Given the description of an element on the screen output the (x, y) to click on. 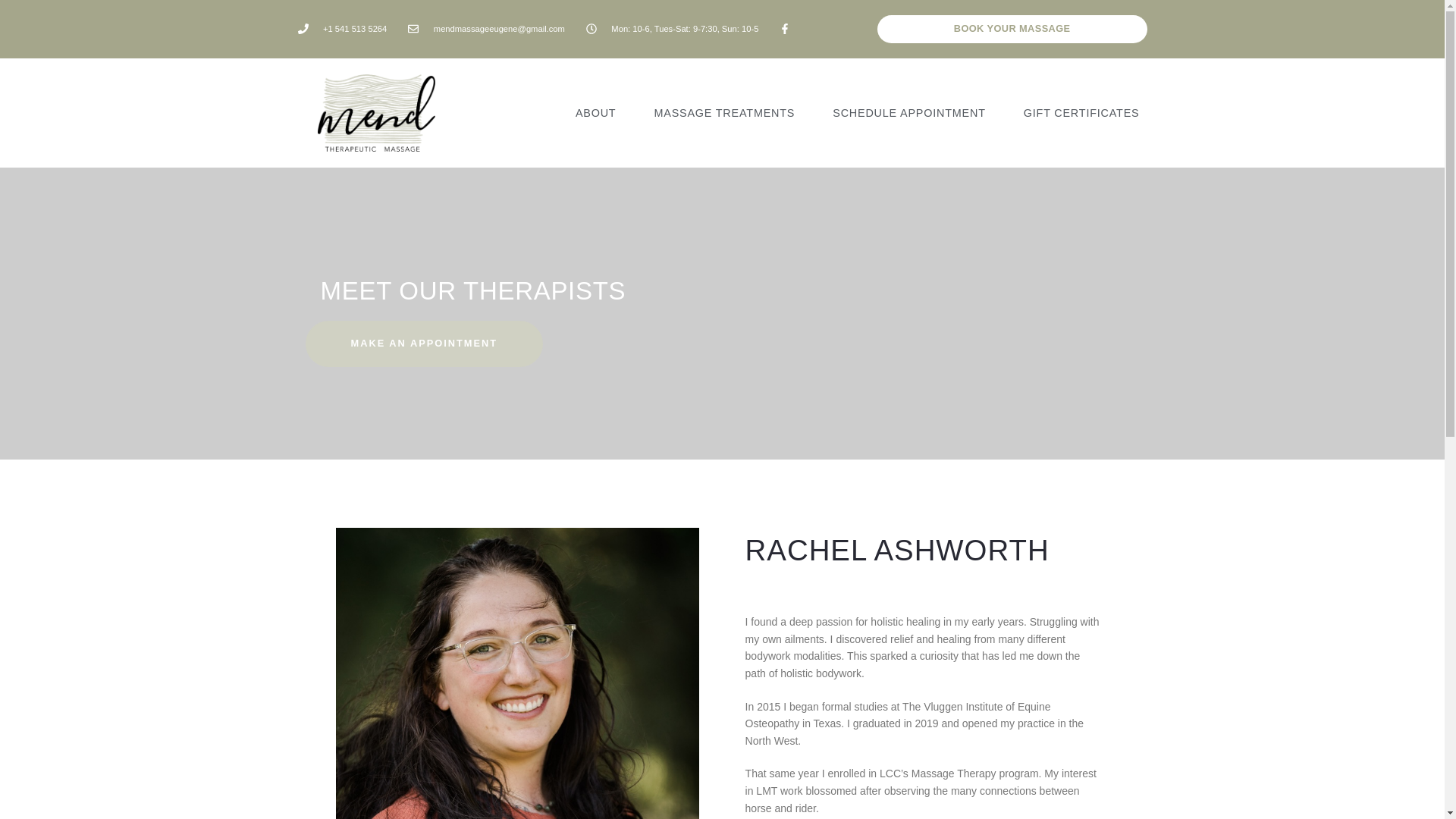
SCHEDULE APPOINTMENT (908, 113)
MAKE AN APPOINTMENT (424, 343)
MASSAGE TREATMENTS (724, 113)
BOOK YOUR MASSAGE (1012, 29)
GIFT CERTIFICATES (1081, 113)
ABOUT (595, 113)
